Given the description of an element on the screen output the (x, y) to click on. 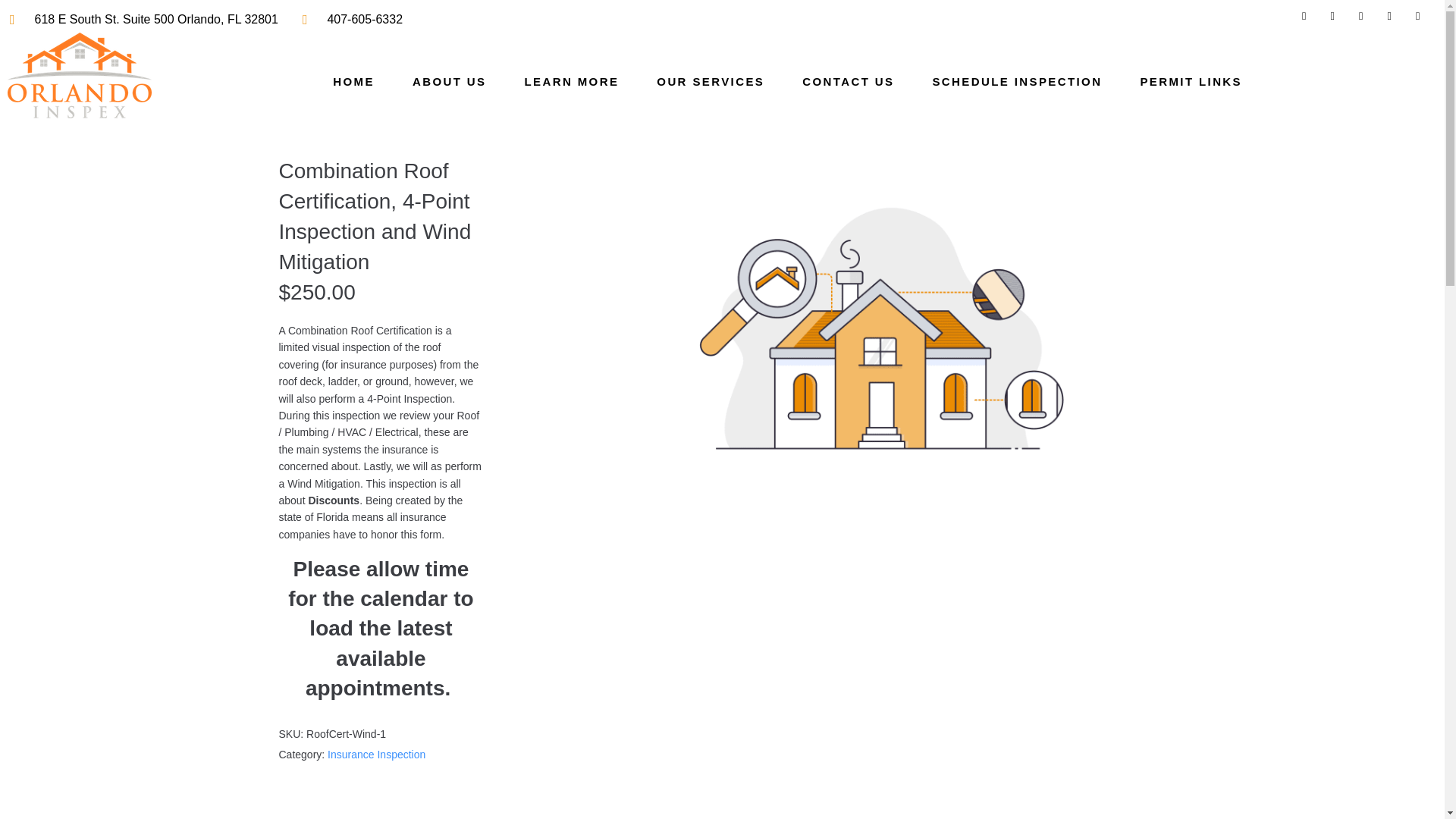
PERMIT LINKS (1190, 81)
CONTACT US (847, 81)
Insurance Inspection (376, 754)
SCHEDULE INSPECTION (1016, 81)
618 E South St. Suite 500 Orlando, FL 32801 (144, 19)
HOME (353, 81)
OUR SERVICES (710, 81)
LEARN MORE (571, 81)
ABOUT US (449, 81)
